Given the description of an element on the screen output the (x, y) to click on. 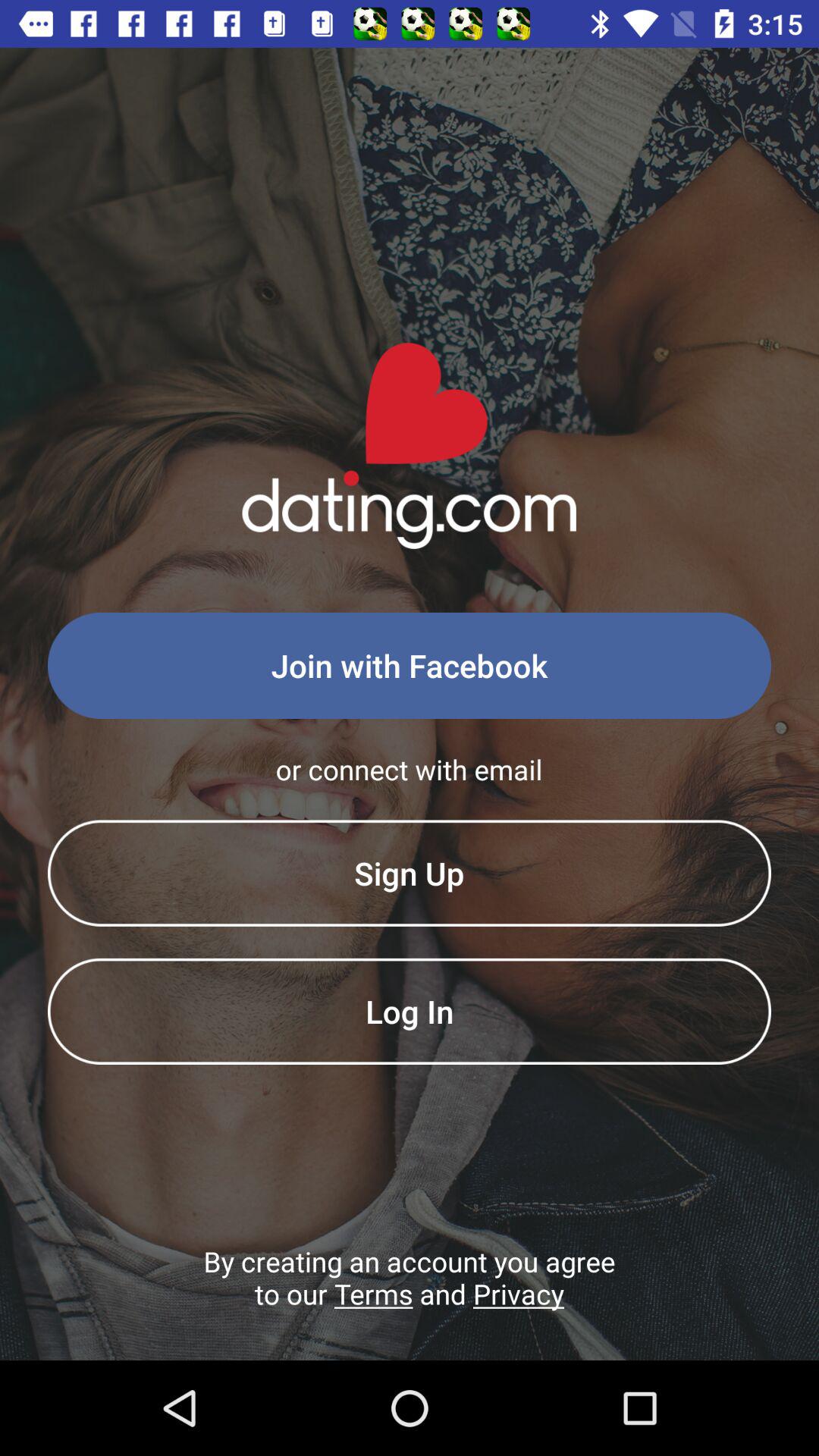
turn on the join with facebook (409, 665)
